Given the description of an element on the screen output the (x, y) to click on. 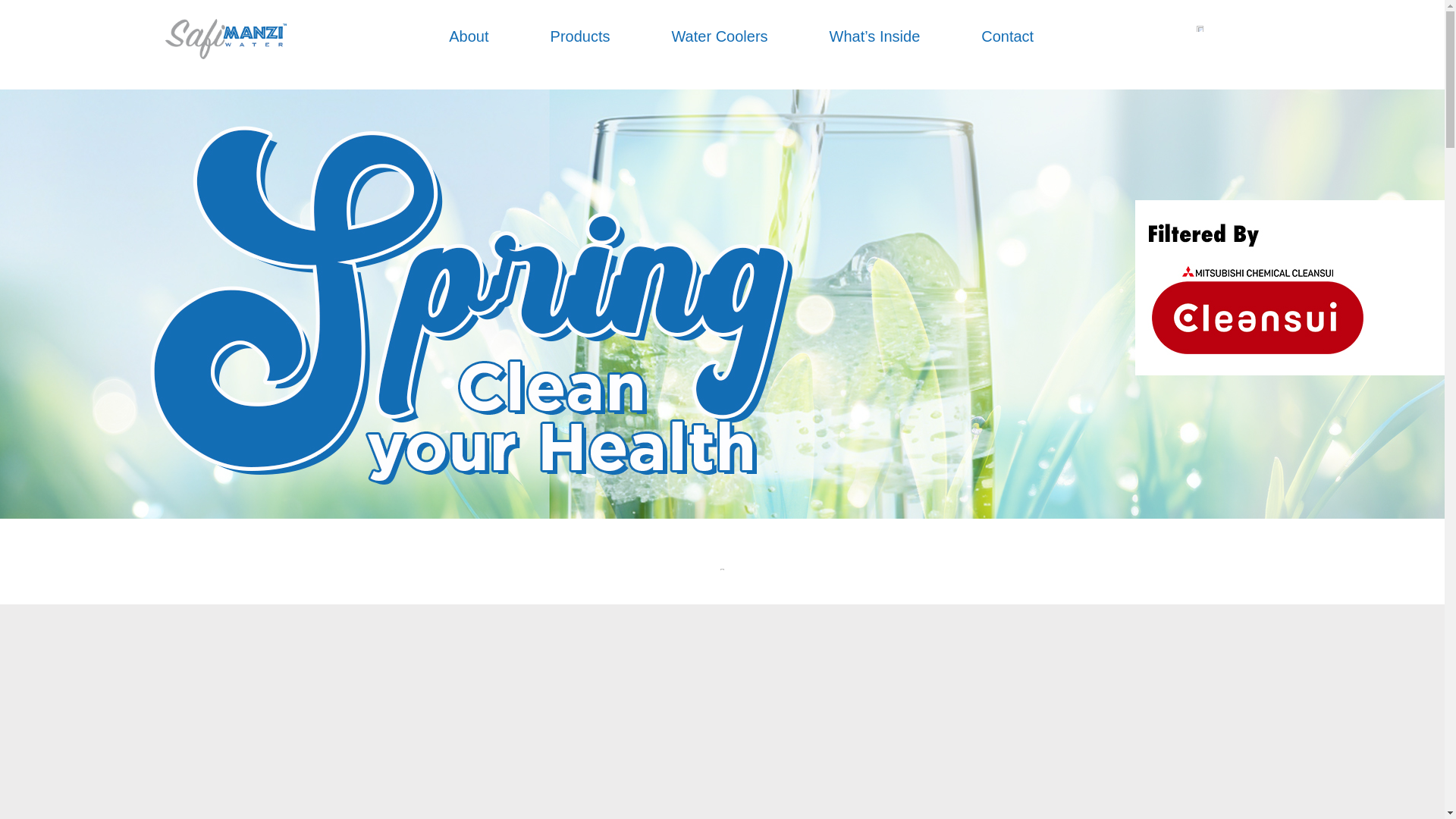
Water Coolers (719, 36)
Contact (1007, 36)
About (467, 36)
Products (580, 36)
